Given the description of an element on the screen output the (x, y) to click on. 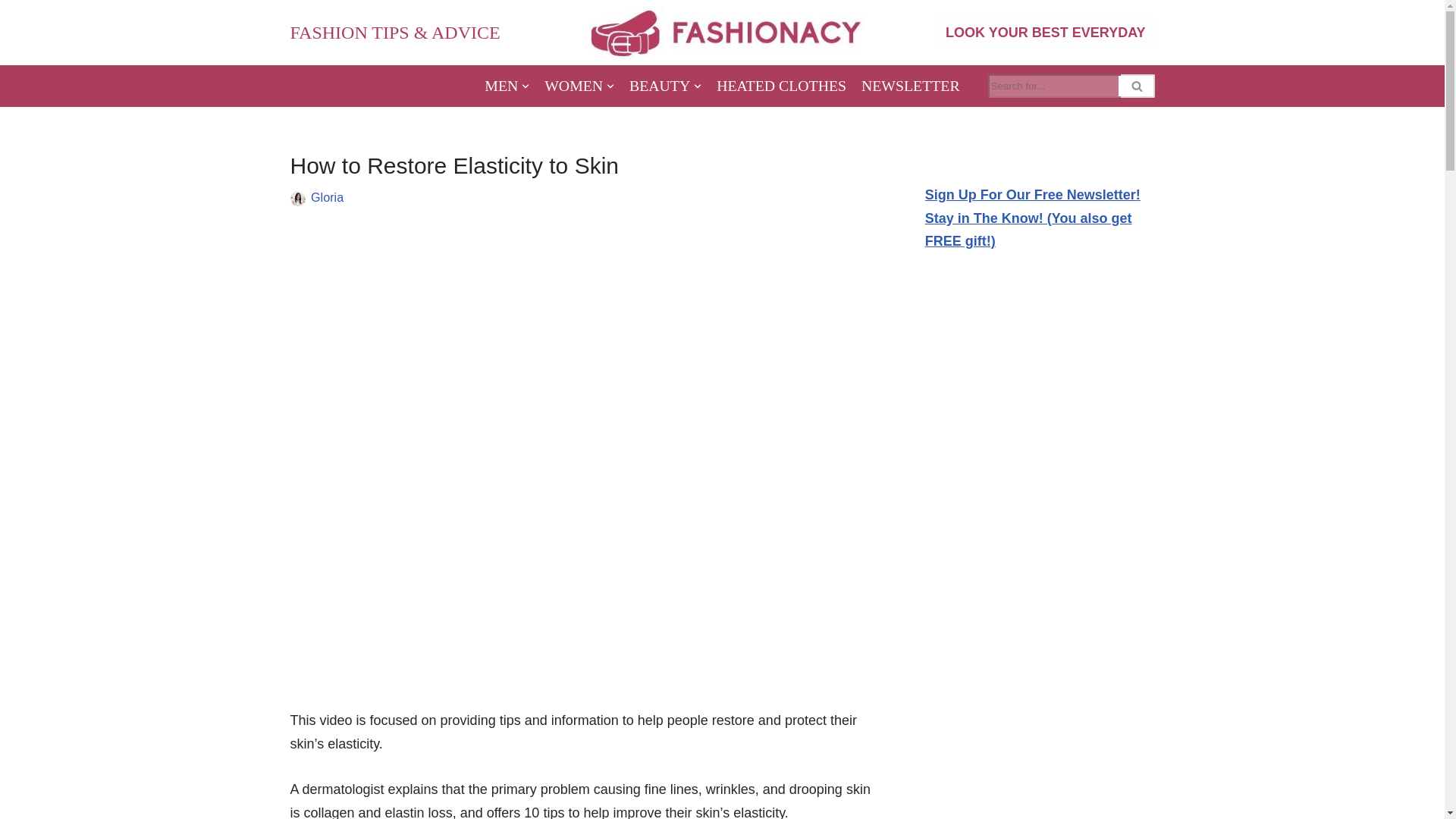
Posts by Gloria (327, 196)
BEAUTY (664, 86)
Skip to content (11, 31)
WOMEN (579, 86)
MEN (506, 86)
LOOK YOUR BEST EVERYDAY (1045, 32)
